Given the description of an element on the screen output the (x, y) to click on. 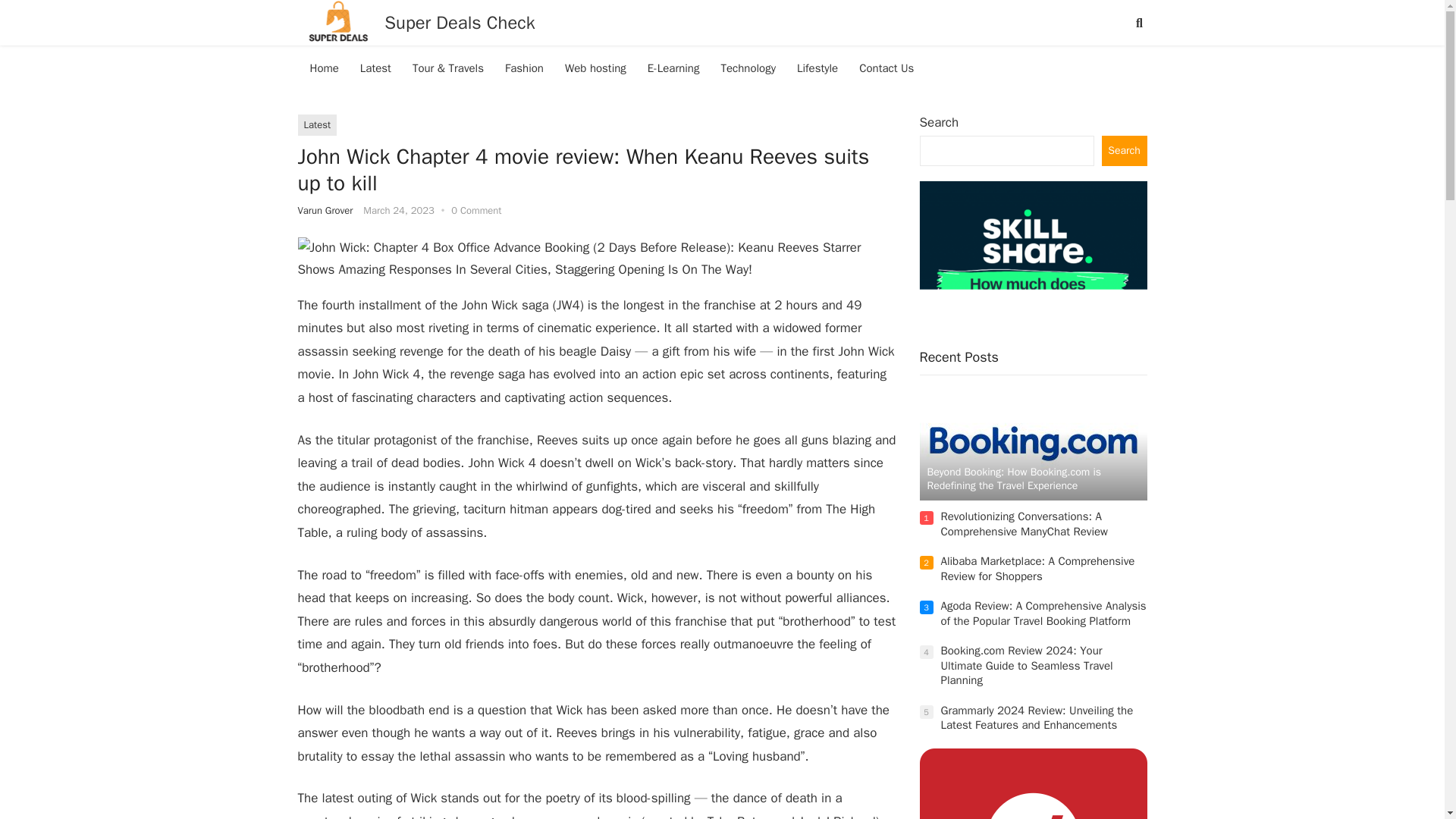
Varun Grover (324, 210)
Web hosting (595, 67)
Latest (375, 67)
Lifestyle (817, 67)
Posts by Varun Grover (324, 210)
Contact Us (886, 67)
0 Comment (475, 210)
Latest (316, 124)
Super Deals Check (459, 22)
Home (323, 67)
